Given the description of an element on the screen output the (x, y) to click on. 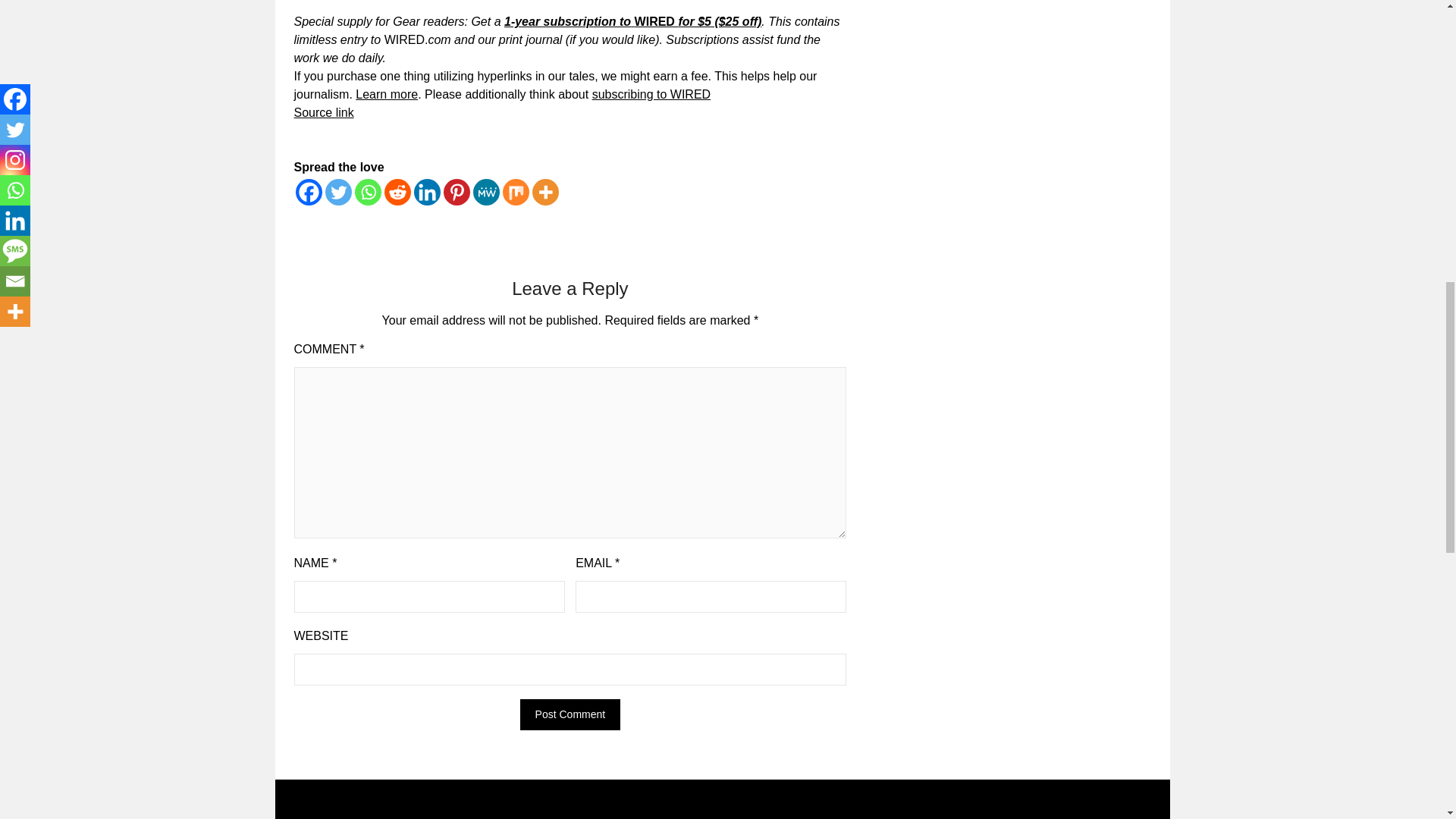
Post Comment (570, 714)
Source link (323, 112)
Facebook (308, 192)
subscribing to WIRED (651, 93)
Learn more (386, 93)
Twitter (337, 192)
